Given the description of an element on the screen output the (x, y) to click on. 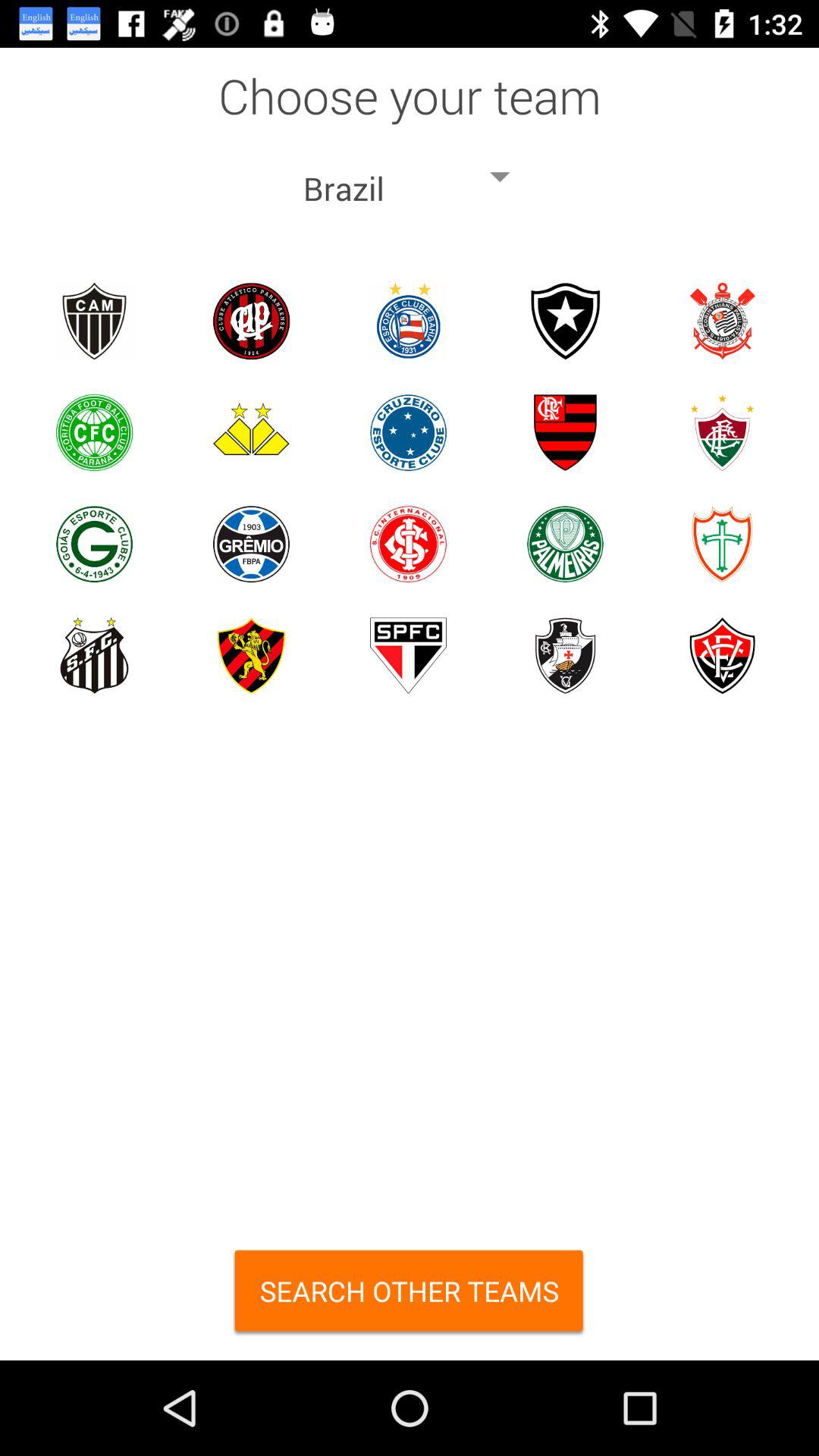
choose the team select the team (565, 321)
